Given the description of an element on the screen output the (x, y) to click on. 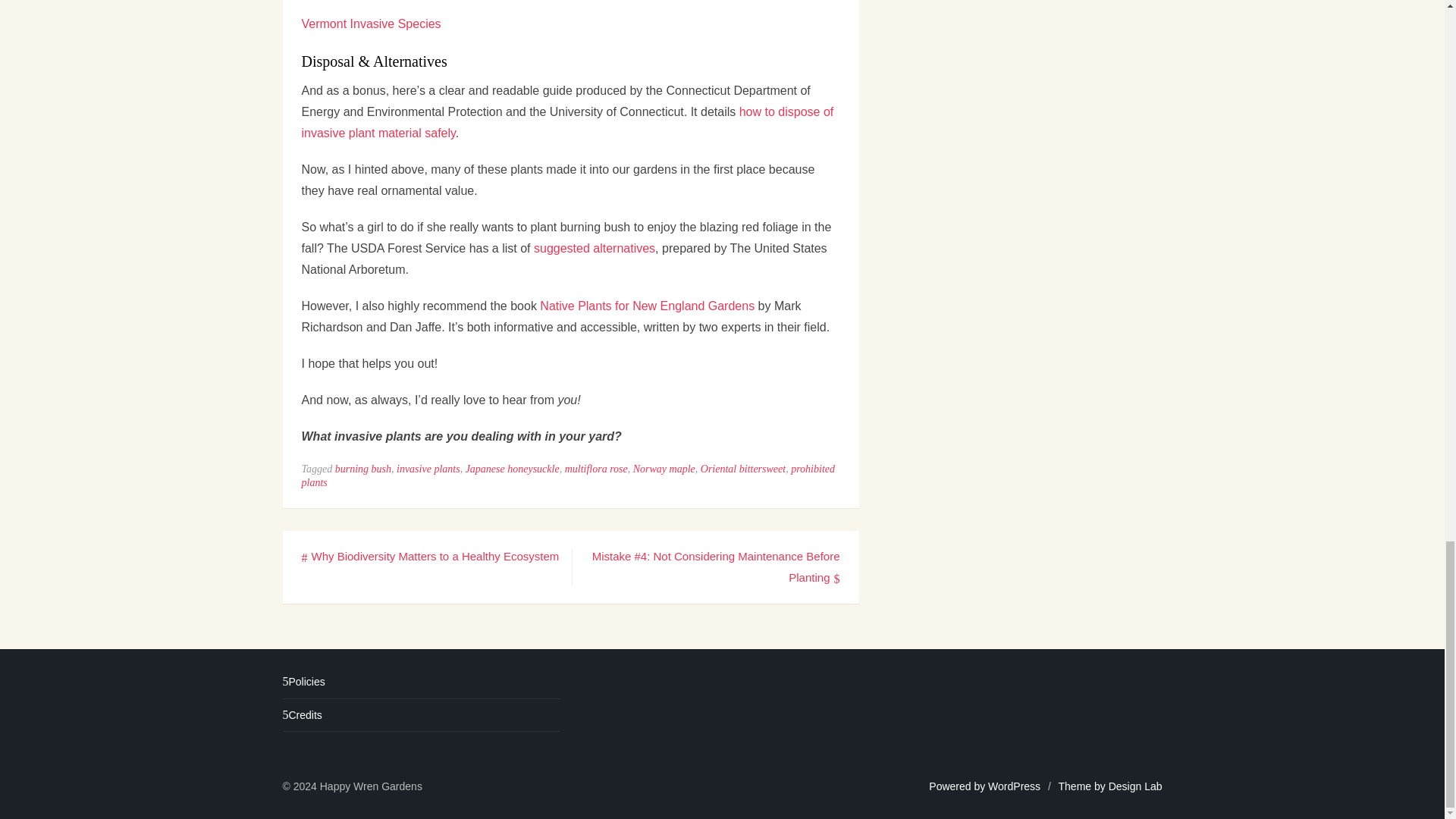
multiflora rose (595, 469)
Japanese honeysuckle (512, 469)
suggested alternatives (594, 247)
prohibited plants (568, 475)
how to dispose of invasive plant material safely (567, 122)
Oriental bittersweet (743, 469)
Vermont Invasive Species (371, 23)
Native Plants for New England Gardens (647, 305)
invasive plants (428, 469)
Why Biodiversity Matters to a Healthy Ecosystem (430, 555)
Norway maple (664, 469)
burning bush (362, 469)
